Given the description of an element on the screen output the (x, y) to click on. 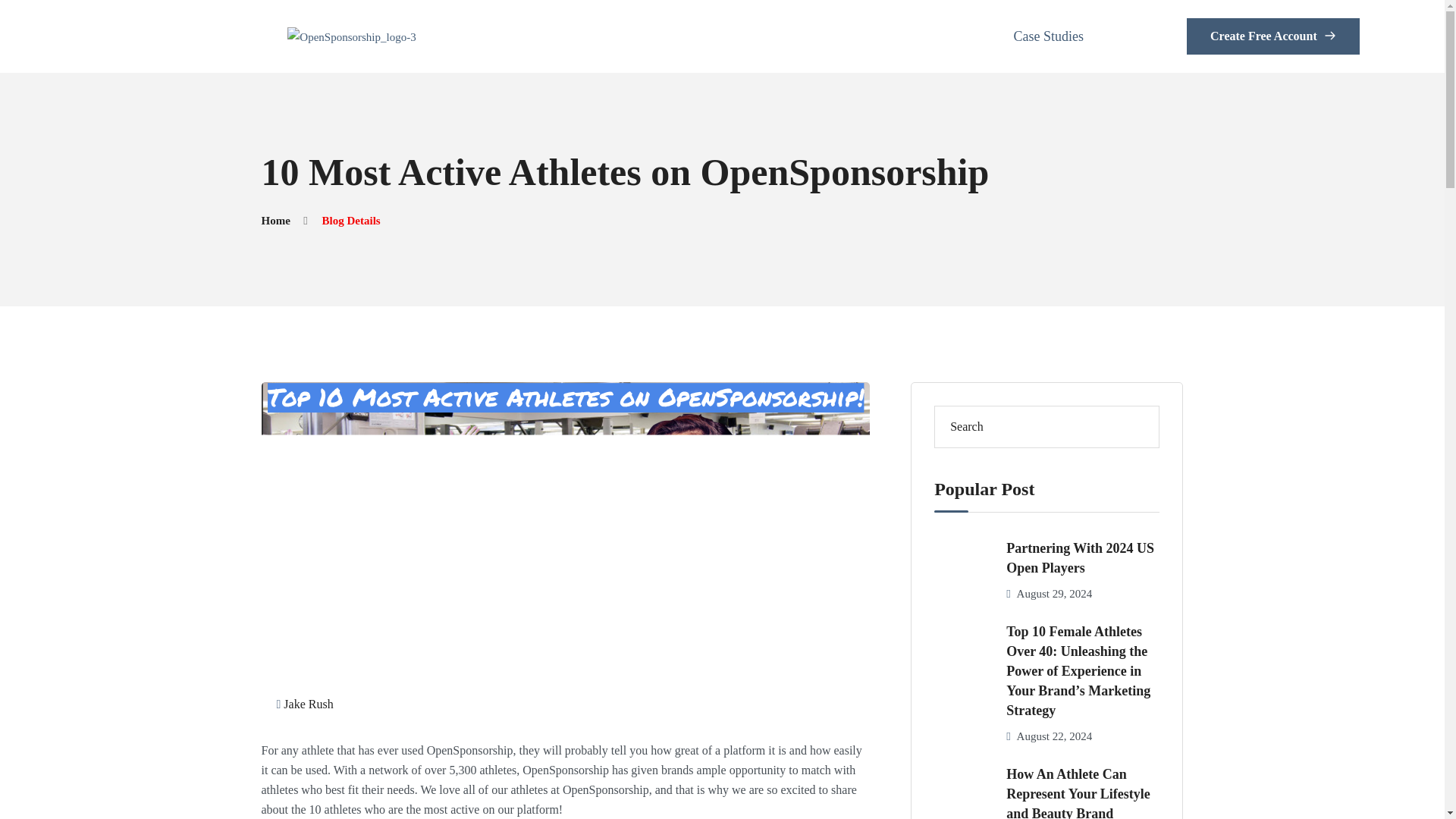
Blog Details (350, 220)
Home (274, 220)
Case Studies (1048, 36)
How An Athlete Can Represent Your Lifestyle and Beauty Brand (1082, 791)
Create Free Account (1272, 36)
Partnering With 2024 US Open Players (1082, 558)
Jake Rush (308, 703)
